Given the description of an element on the screen output the (x, y) to click on. 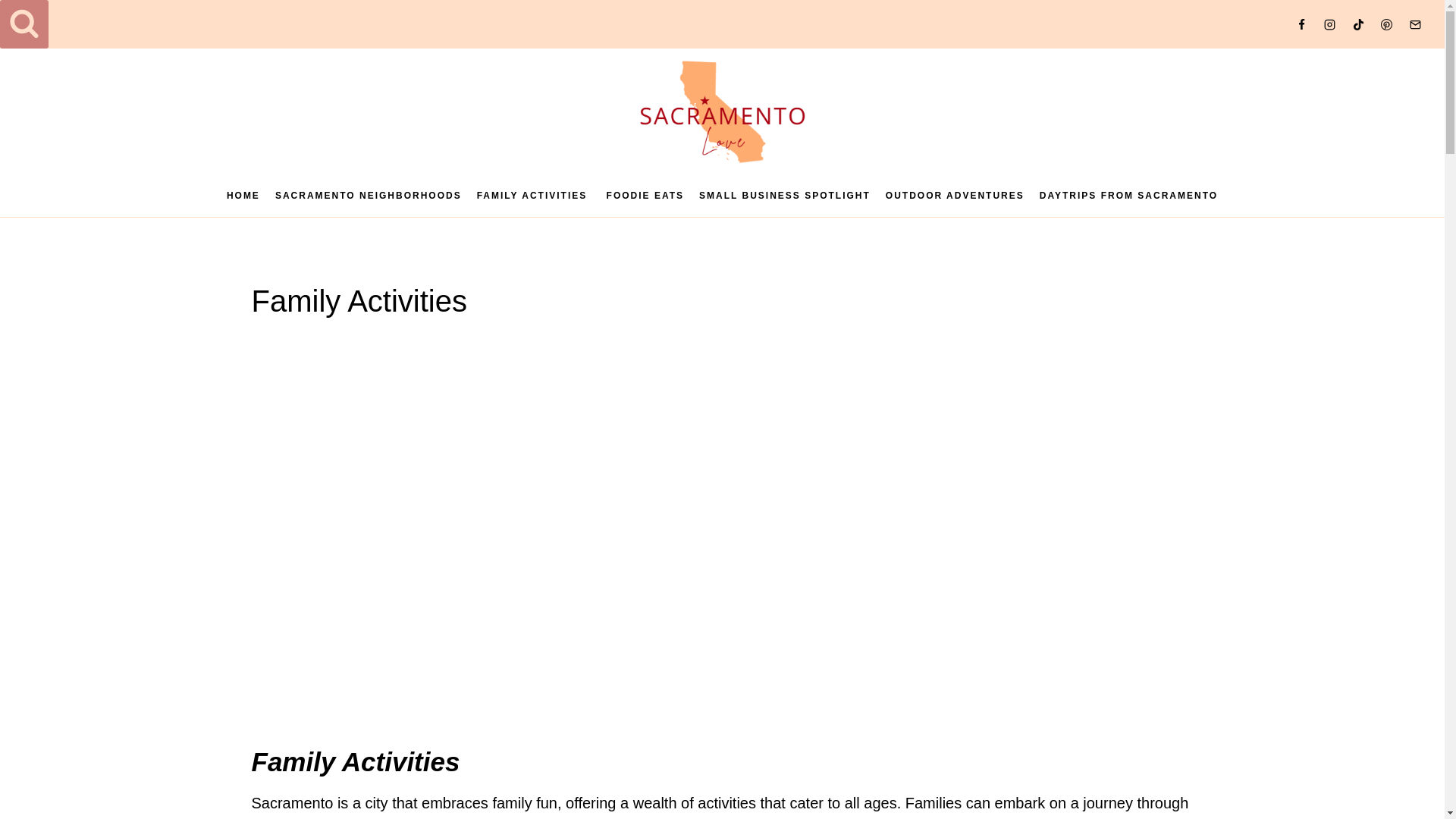
OUTDOOR ADVENTURES (954, 196)
FAMILY ACTIVITIES  (533, 196)
DAYTRIPS FROM SACRAMENTO (1128, 196)
FOODIE EATS (644, 196)
HOME (243, 196)
SMALL BUSINESS SPOTLIGHT (784, 196)
SACRAMENTO NEIGHBORHOODS (367, 196)
